Given the description of an element on the screen output the (x, y) to click on. 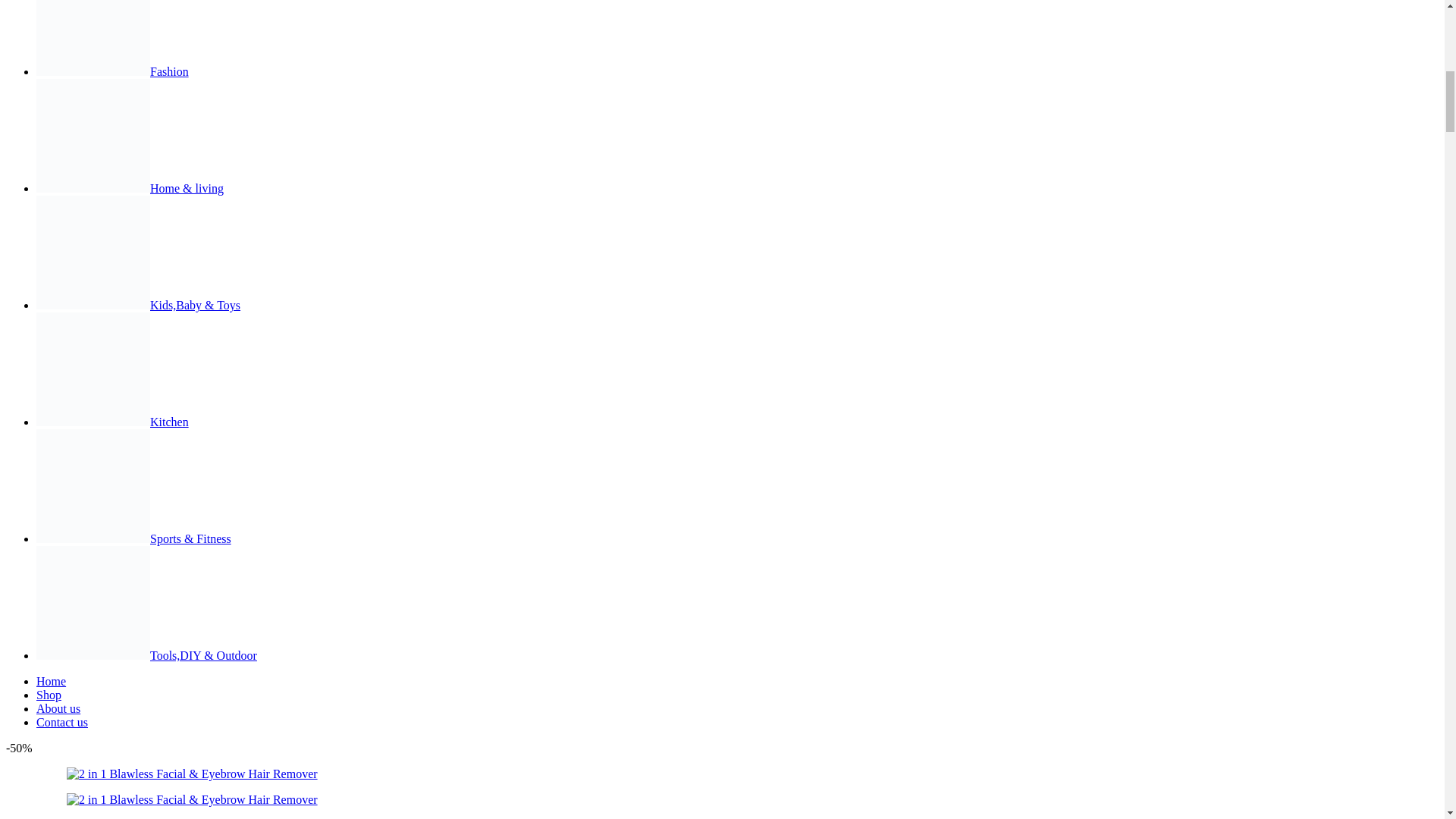
Kitchen (112, 421)
Fashion (112, 71)
Home (50, 680)
